Given the description of an element on the screen output the (x, y) to click on. 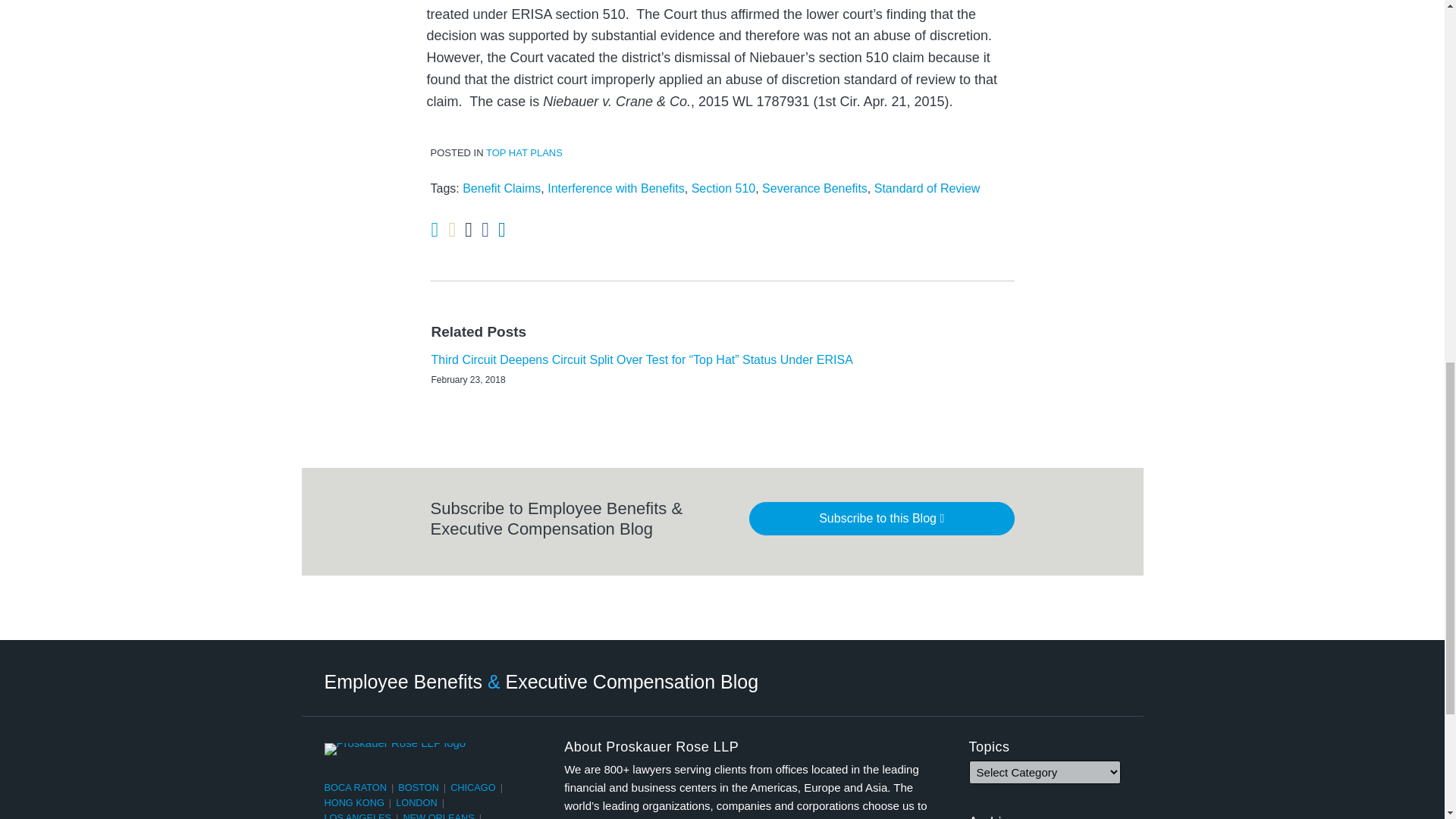
Standard of Review (927, 187)
BOSTON (418, 786)
TOP HAT PLANS (524, 152)
Subscribe to this Blog (881, 518)
Section 510 (723, 187)
BOCA RATON (355, 786)
Benefit Claims (501, 187)
Severance Benefits (814, 187)
Interference with Benefits (615, 187)
LOS ANGELES (357, 815)
CHICAGO (472, 786)
NEW ORLEANS (438, 815)
HONG KONG (354, 802)
LONDON (417, 802)
